Given the description of an element on the screen output the (x, y) to click on. 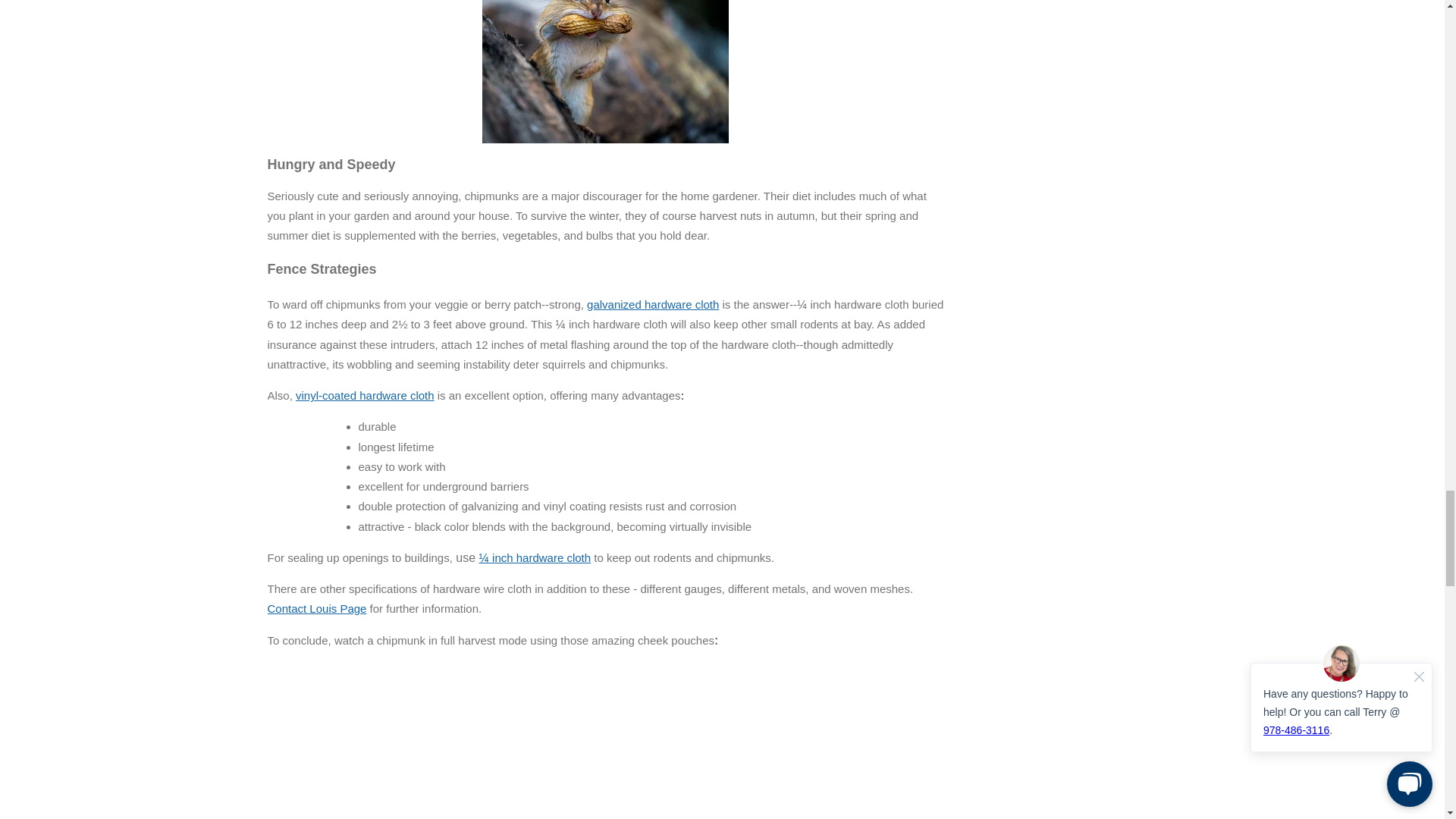
Contact us (316, 608)
